Given the description of an element on the screen output the (x, y) to click on. 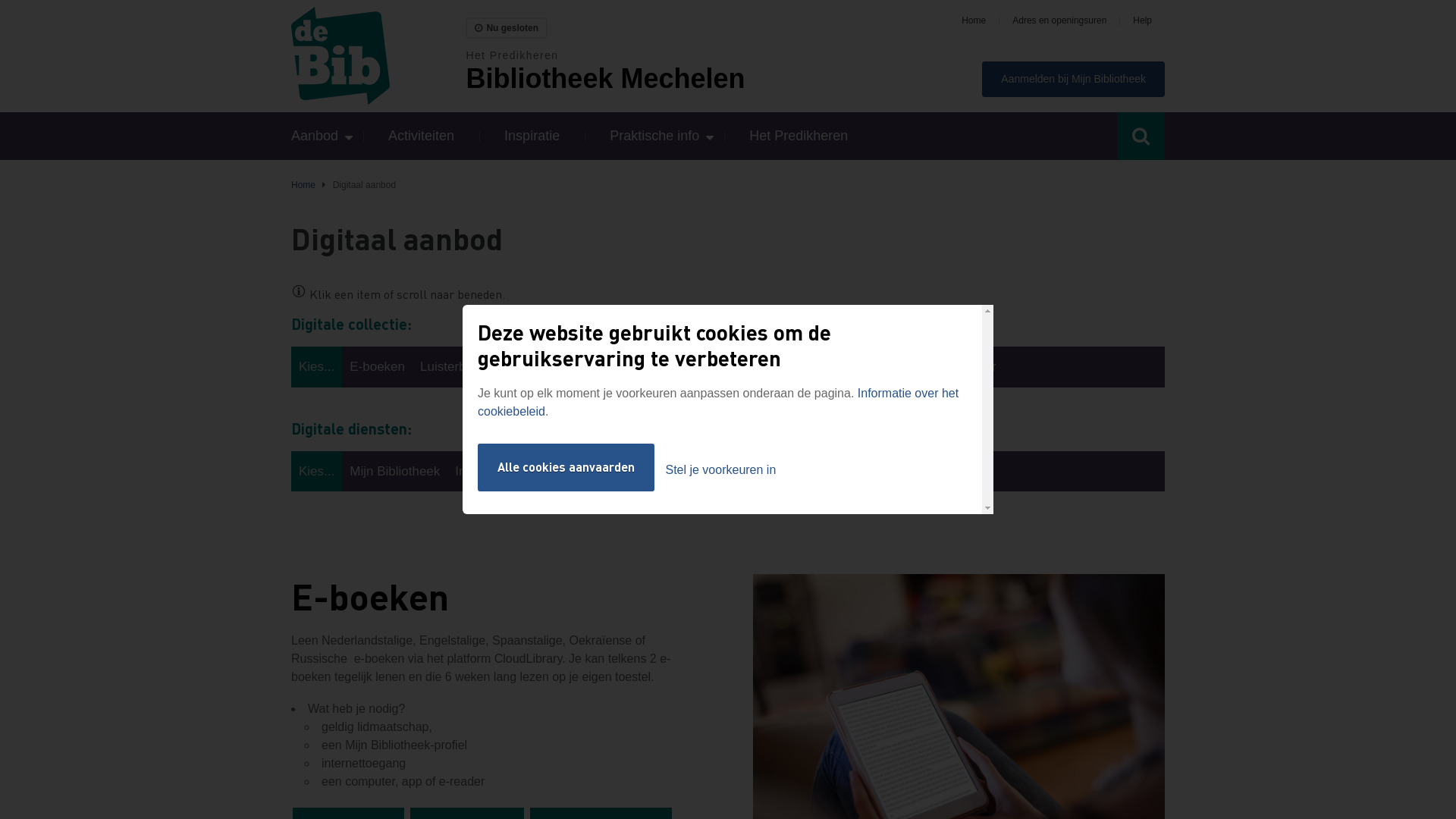
Boekenzoeker Element type: text (798, 471)
Printen Element type: text (589, 471)
Krantenarchief Element type: text (863, 366)
Wifi Element type: text (542, 471)
Krantenkiosk Element type: text (769, 366)
Luisterpunt Element type: text (684, 366)
Internet-pc Element type: text (485, 471)
Nu gesloten Element type: text (506, 27)
Het Predikheren Element type: text (798, 136)
Activiteiten Element type: text (421, 136)
E-boeken Element type: text (377, 366)
Adres en openingsuren Element type: text (1059, 20)
Home Academy Element type: text (592, 366)
PressReader Element type: text (958, 366)
Scannen Element type: text (716, 471)
Inspiratie Element type: text (531, 136)
Digidokters Element type: text (887, 471)
Home Element type: text (303, 184)
Home Element type: text (973, 20)
Help Element type: text (1141, 20)
Informatie over het cookiebeleid Element type: text (717, 401)
Aanmelden bij Mijn Bibliotheek Element type: text (1073, 79)
Toggle search Element type: hover (1140, 136)
Kies... Element type: text (316, 471)
Luisterboeken (CD) Element type: text (475, 366)
Alle cookies aanvaarden Element type: text (565, 466)
Stel je voorkeuren in Element type: text (720, 470)
Home Element type: hover (378, 55)
Mijn Bibliotheek Element type: text (394, 471)
Kies... Element type: text (316, 366)
Overslaan en naar zoeken gaan Element type: text (0, 0)
